Given the description of an element on the screen output the (x, y) to click on. 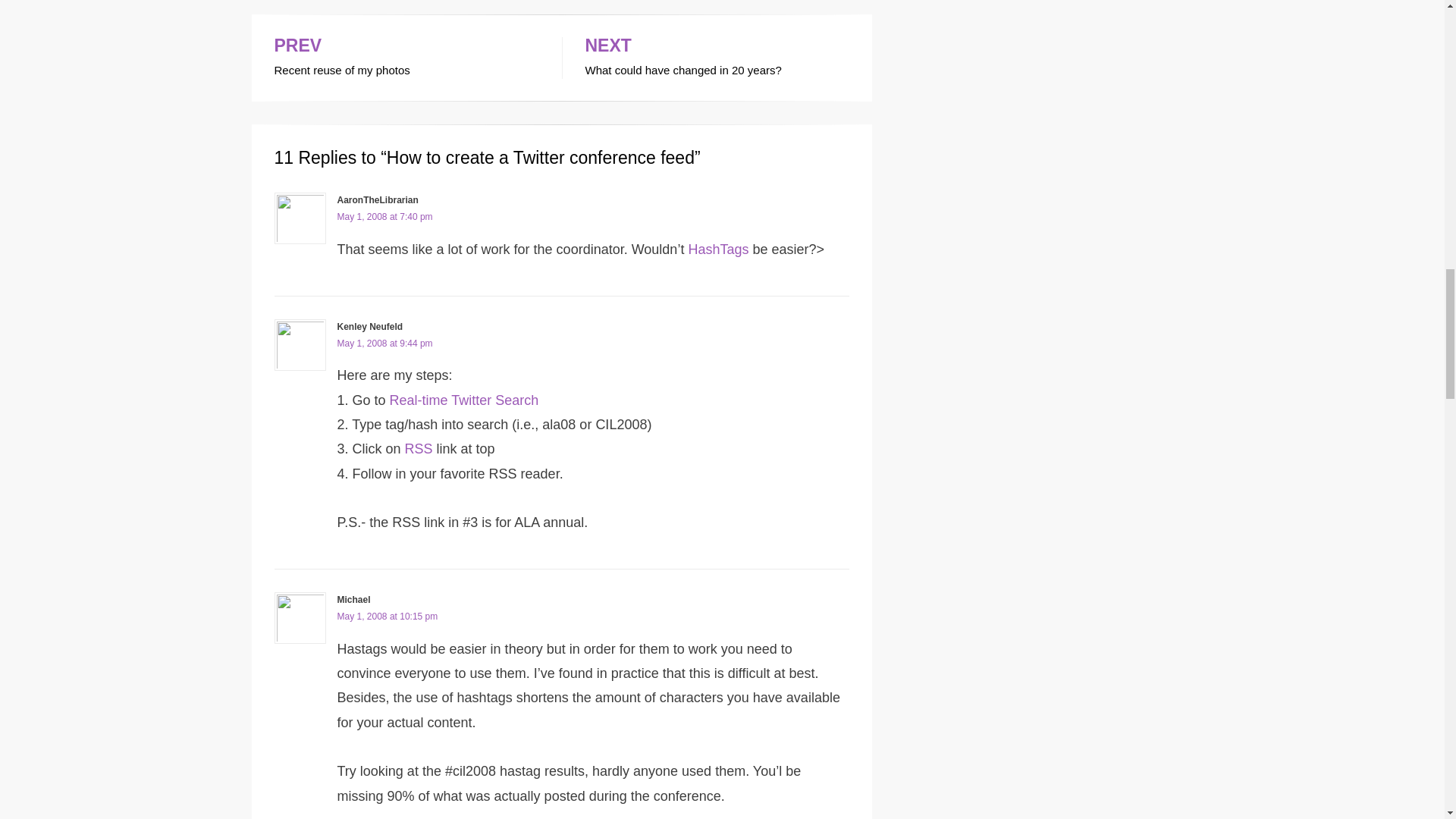
May 1, 2008 at 10:15 pm (387, 615)
HashTags (717, 249)
Real-time Twitter Search (716, 57)
RSS (406, 57)
May 1, 2008 at 7:40 pm (464, 400)
May 1, 2008 at 9:44 pm (418, 448)
